Given the description of an element on the screen output the (x, y) to click on. 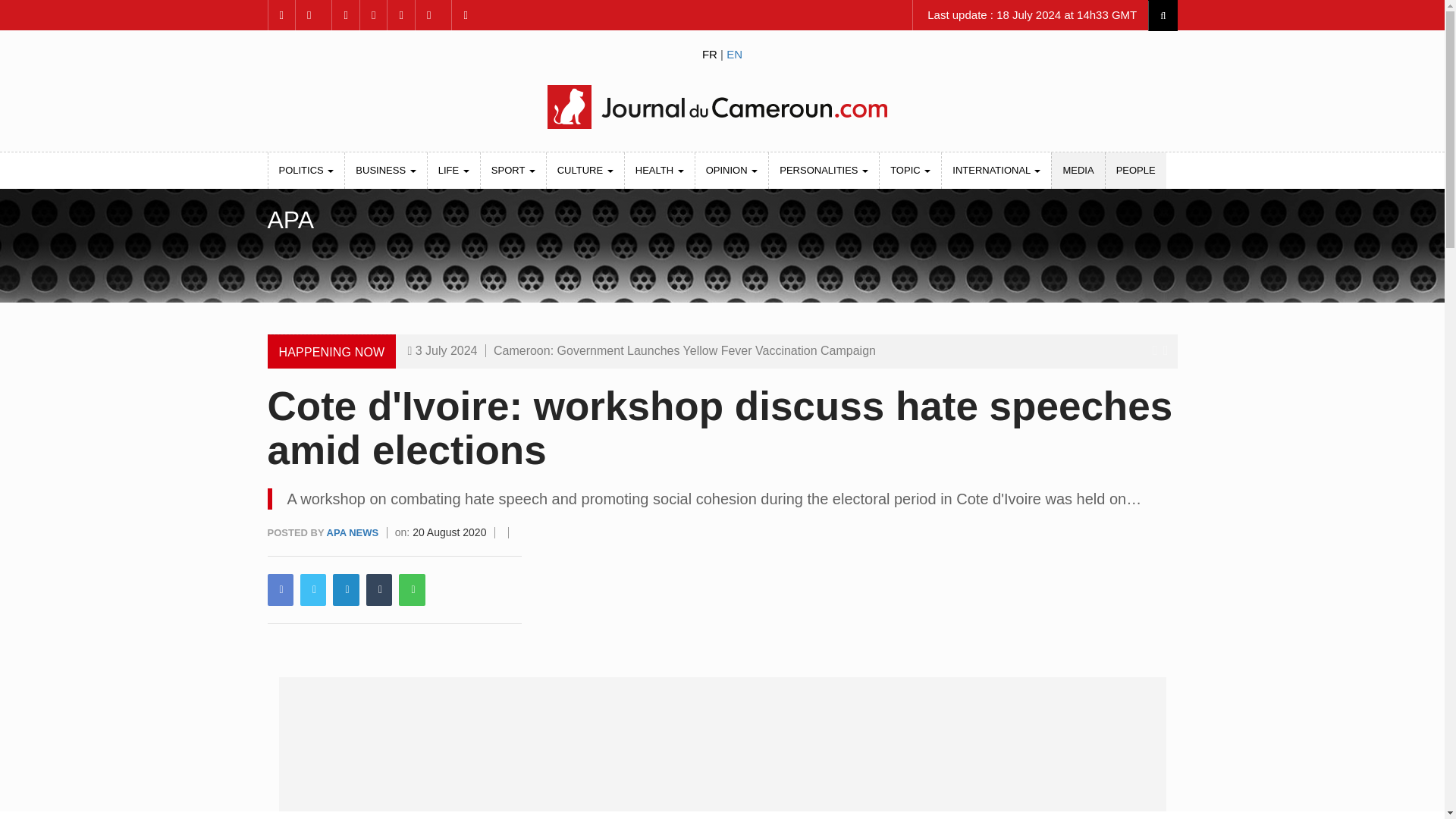
Last update : 18 July 2024 at 14h33 GMT (1030, 15)
FR (709, 53)
POLITICS (306, 170)
BUSINESS (385, 170)
EN (734, 53)
JDC (721, 106)
